Given the description of an element on the screen output the (x, y) to click on. 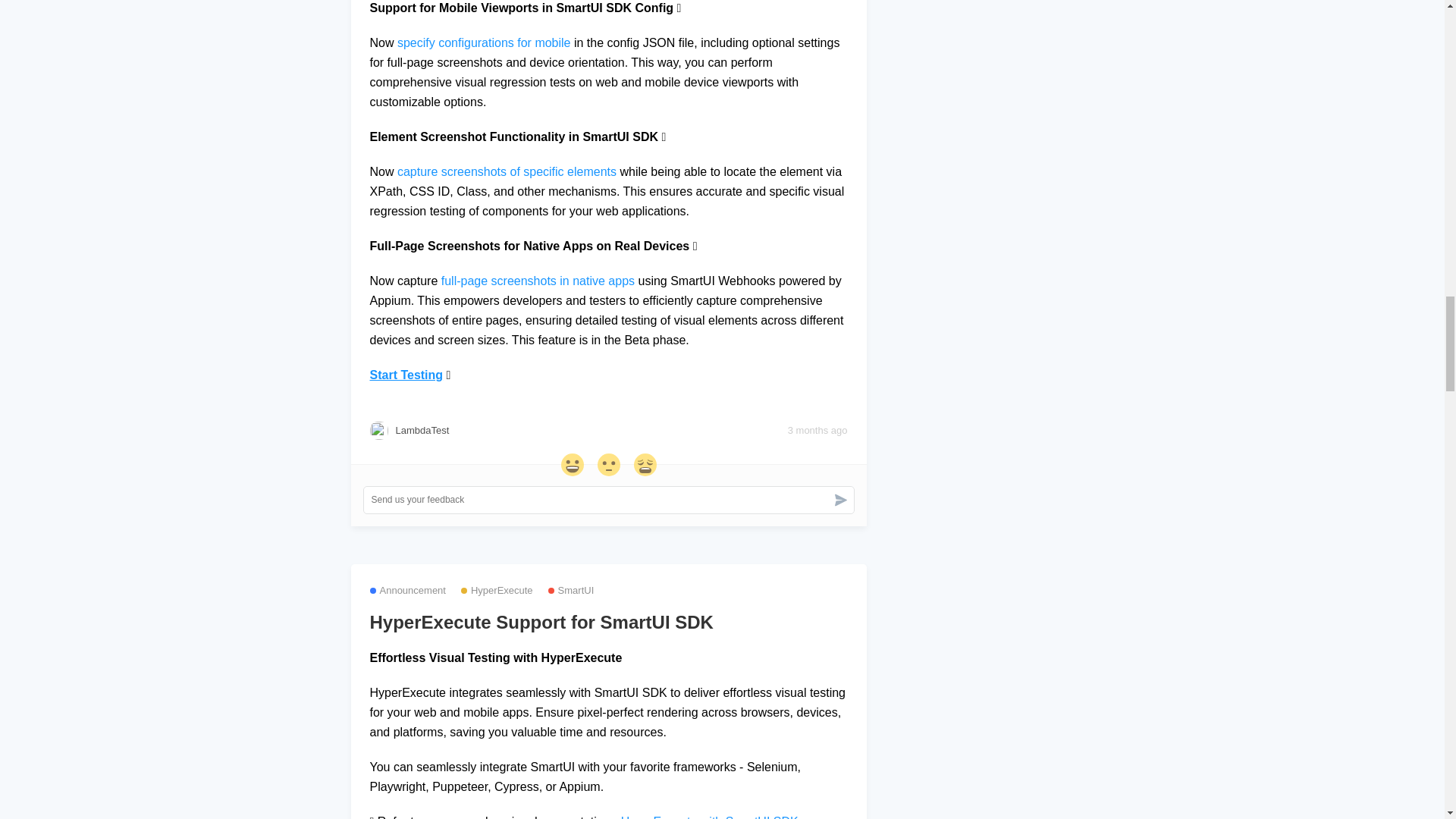
3 months ago (817, 430)
capture screenshots of specific elements (506, 171)
full-page screenshots in native apps (537, 280)
HyperExecute Support for SmartUI SDK (608, 622)
HyperExecute with SmartUI SDK (709, 816)
Start Testing (406, 374)
specify configurations for mobile (483, 42)
